Given the description of an element on the screen output the (x, y) to click on. 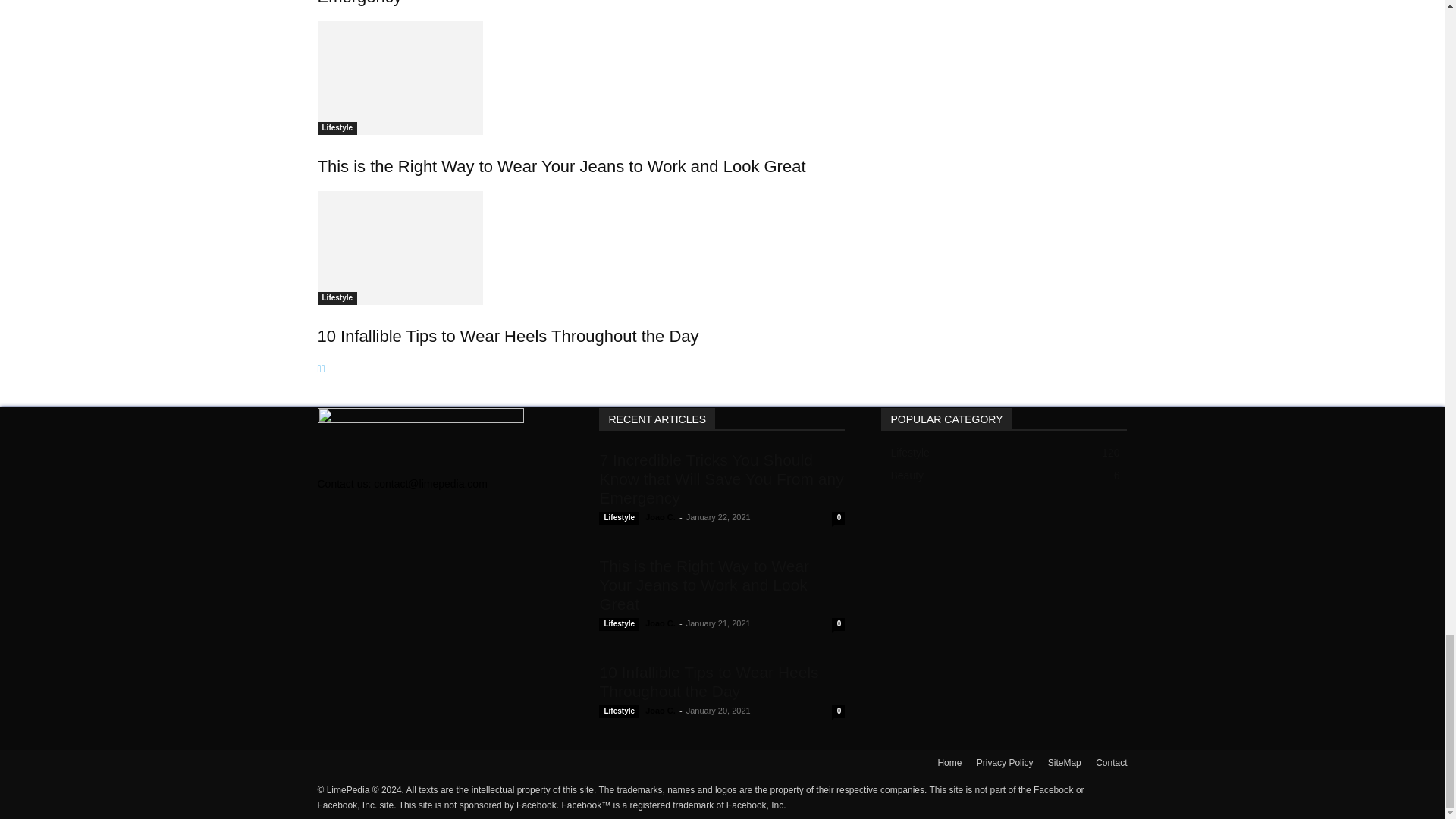
10 Infallible Tips to Wear Heels Throughout the Day (580, 247)
10 Infallible Tips to Wear Heels Throughout the Day (507, 335)
Lifestyle (336, 128)
10 Infallible Tips to Wear Heels Throughout the Day (507, 335)
10 Infallible Tips to Wear Heels Throughout the Day (399, 247)
Lifestyle (336, 297)
